Given the description of an element on the screen output the (x, y) to click on. 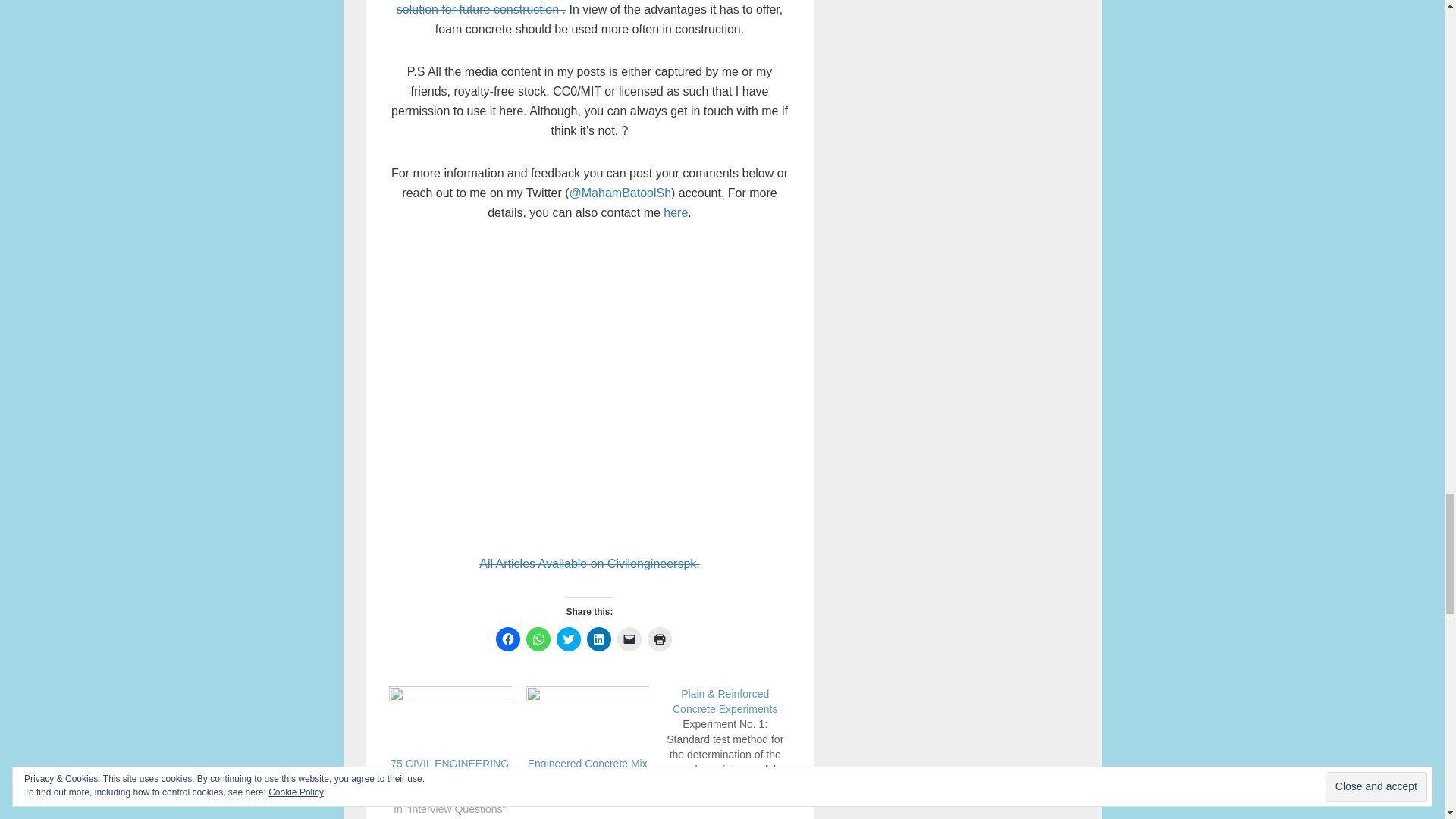
Click to share on LinkedIn (598, 639)
Click to share on WhatsApp (537, 639)
Click to share on Facebook (507, 639)
Click to share on Twitter (568, 639)
